Given the description of an element on the screen output the (x, y) to click on. 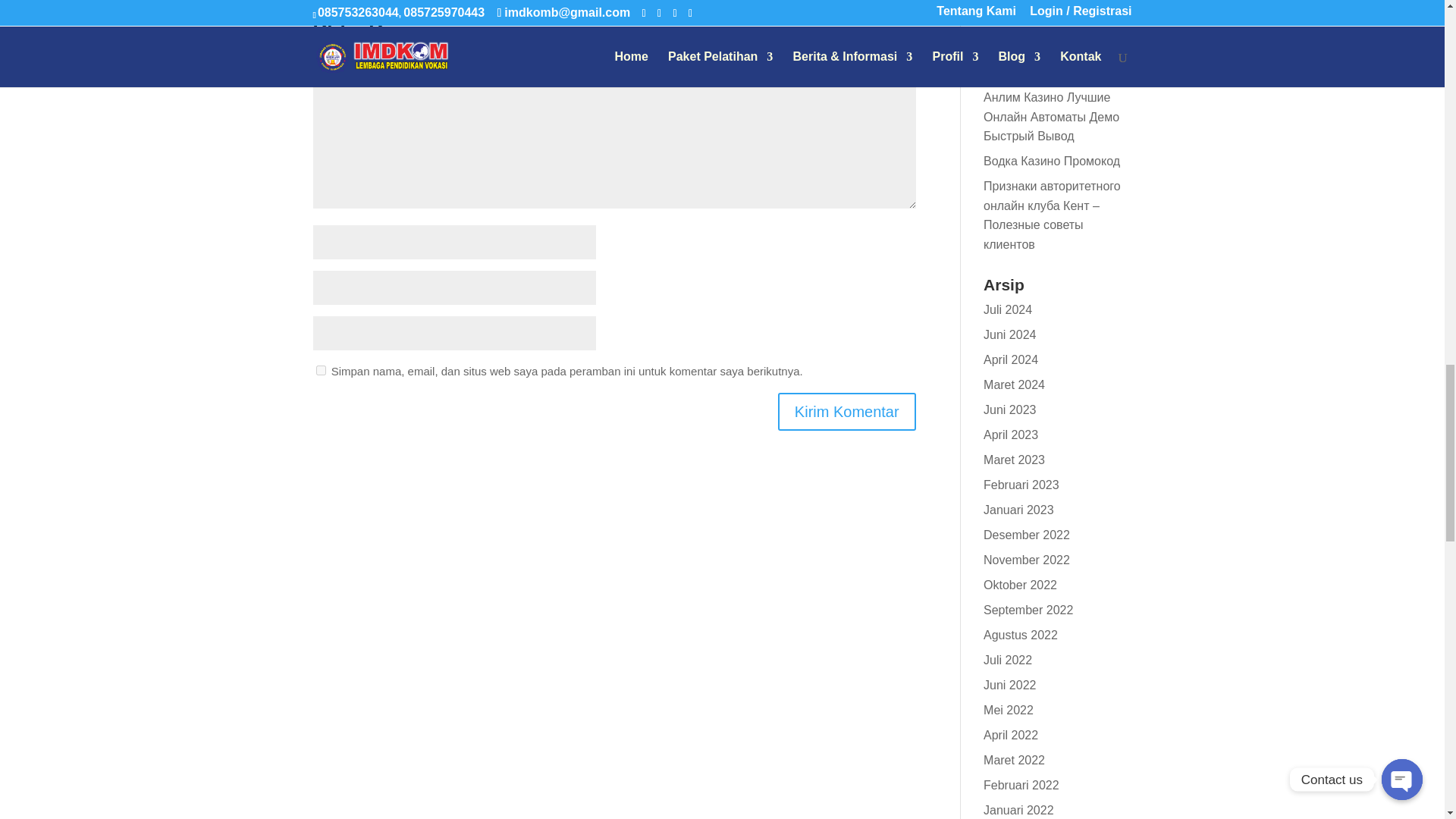
Kirim Komentar (846, 411)
yes (319, 370)
